Given the description of an element on the screen output the (x, y) to click on. 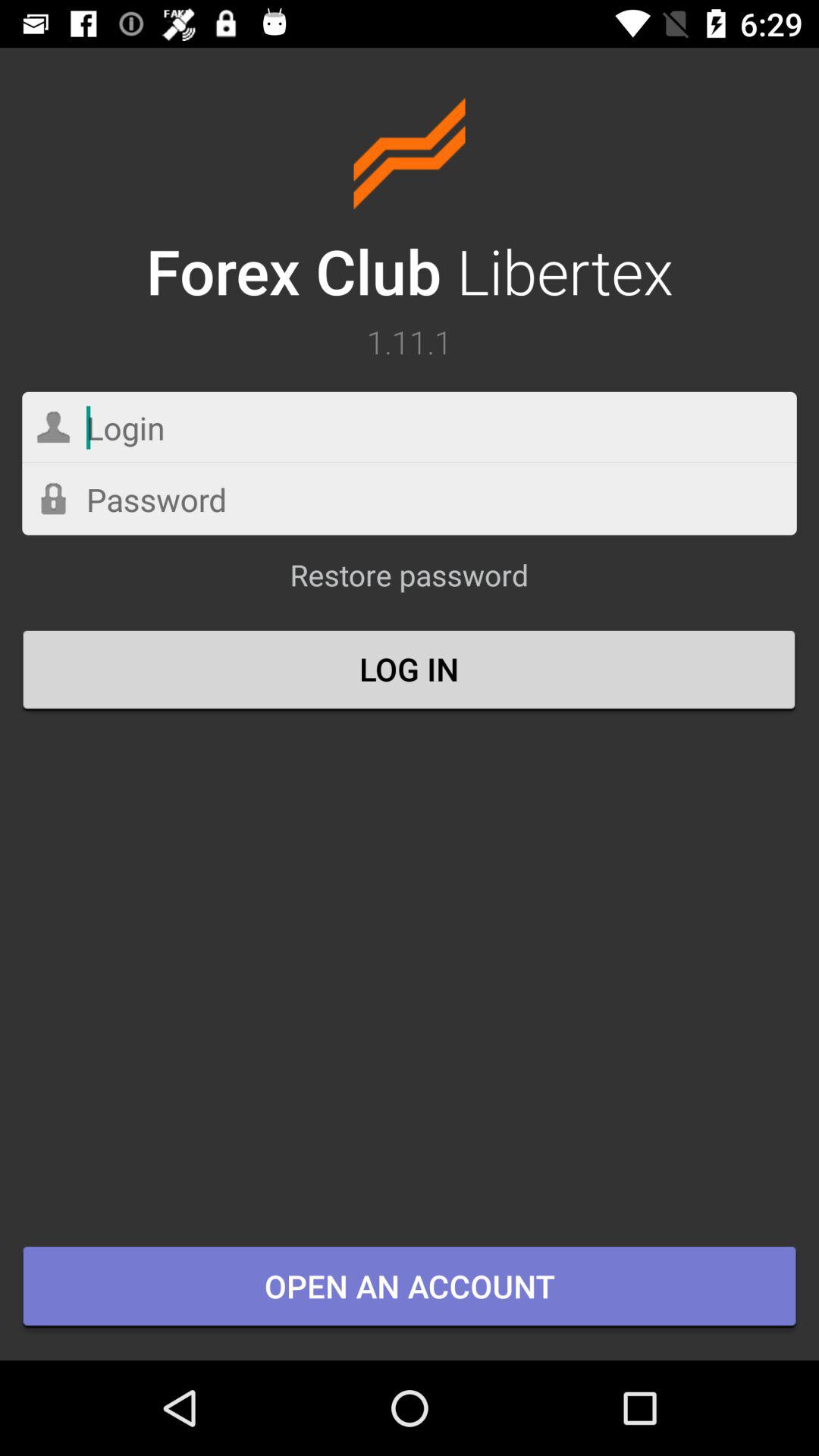
swipe to the restore password item (409, 582)
